Given the description of an element on the screen output the (x, y) to click on. 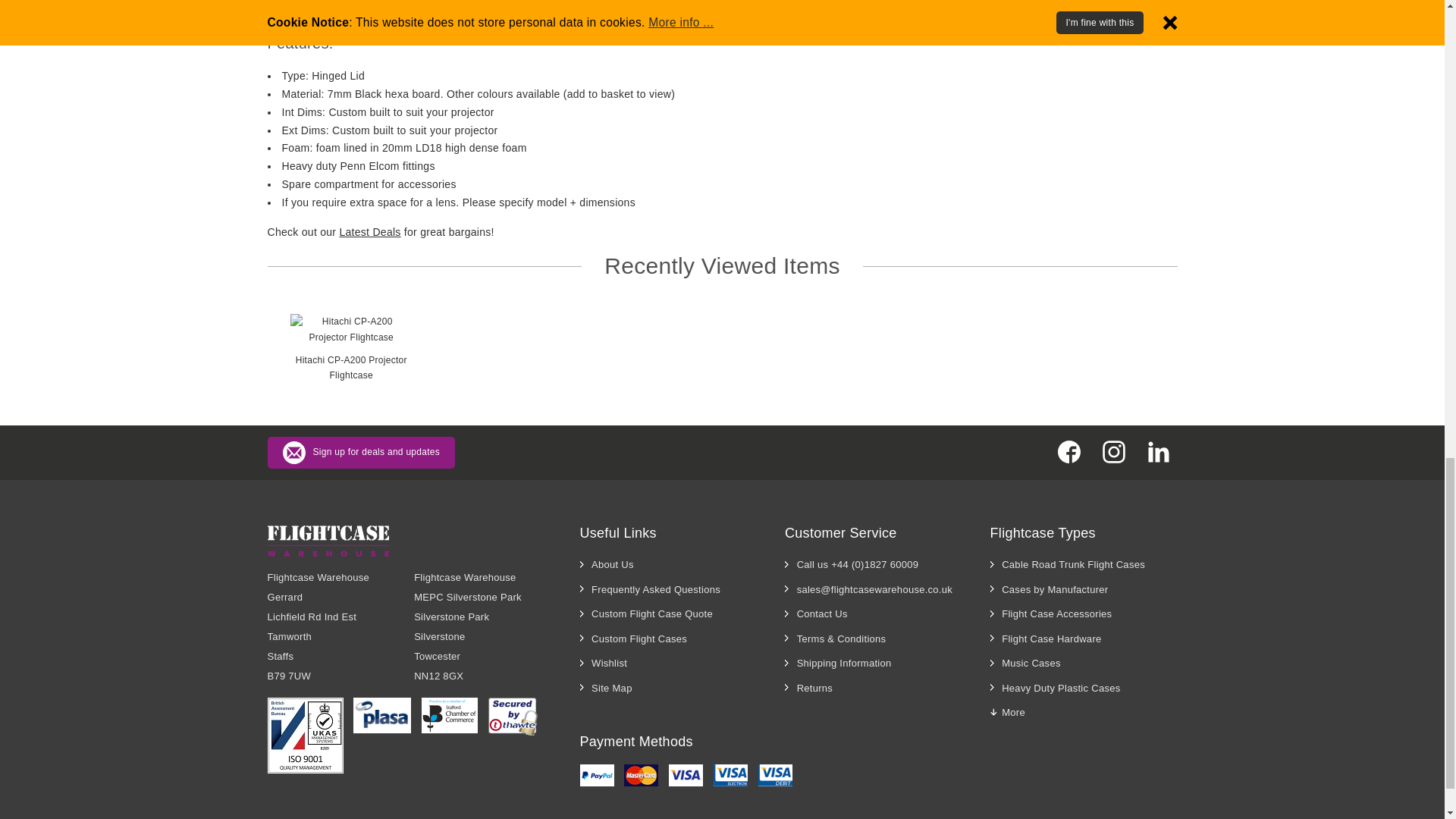
Proud members of Professional Light and Sound Association (381, 715)
Flightcase Warehouse are ISO 9001 accredited (304, 735)
